Given the description of an element on the screen output the (x, y) to click on. 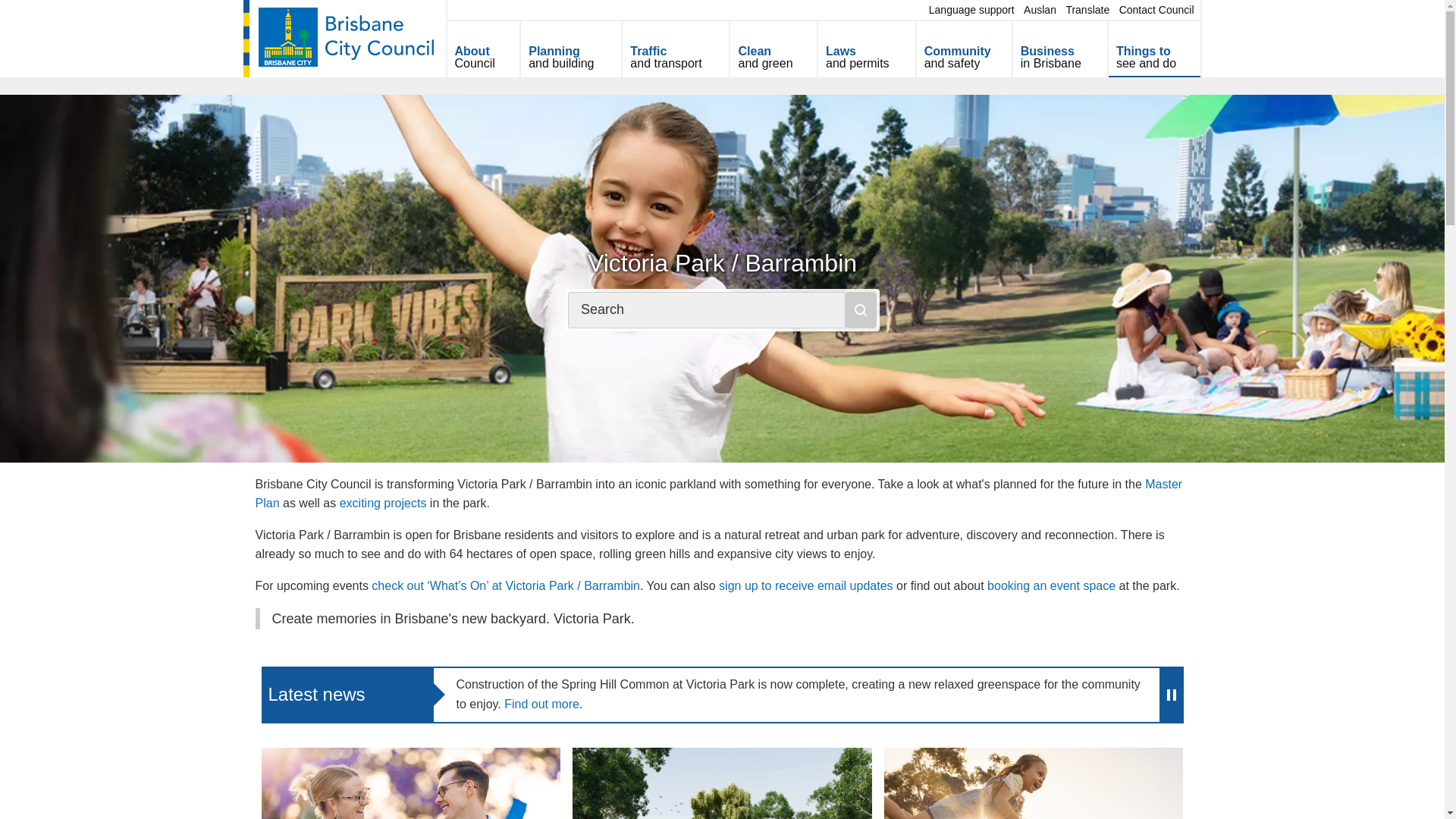
Auslan (1040, 9)
Brisbane City Council (482, 48)
Contact Council (344, 36)
Skip to main content (1156, 9)
Language support (1087, 9)
